Given the description of an element on the screen output the (x, y) to click on. 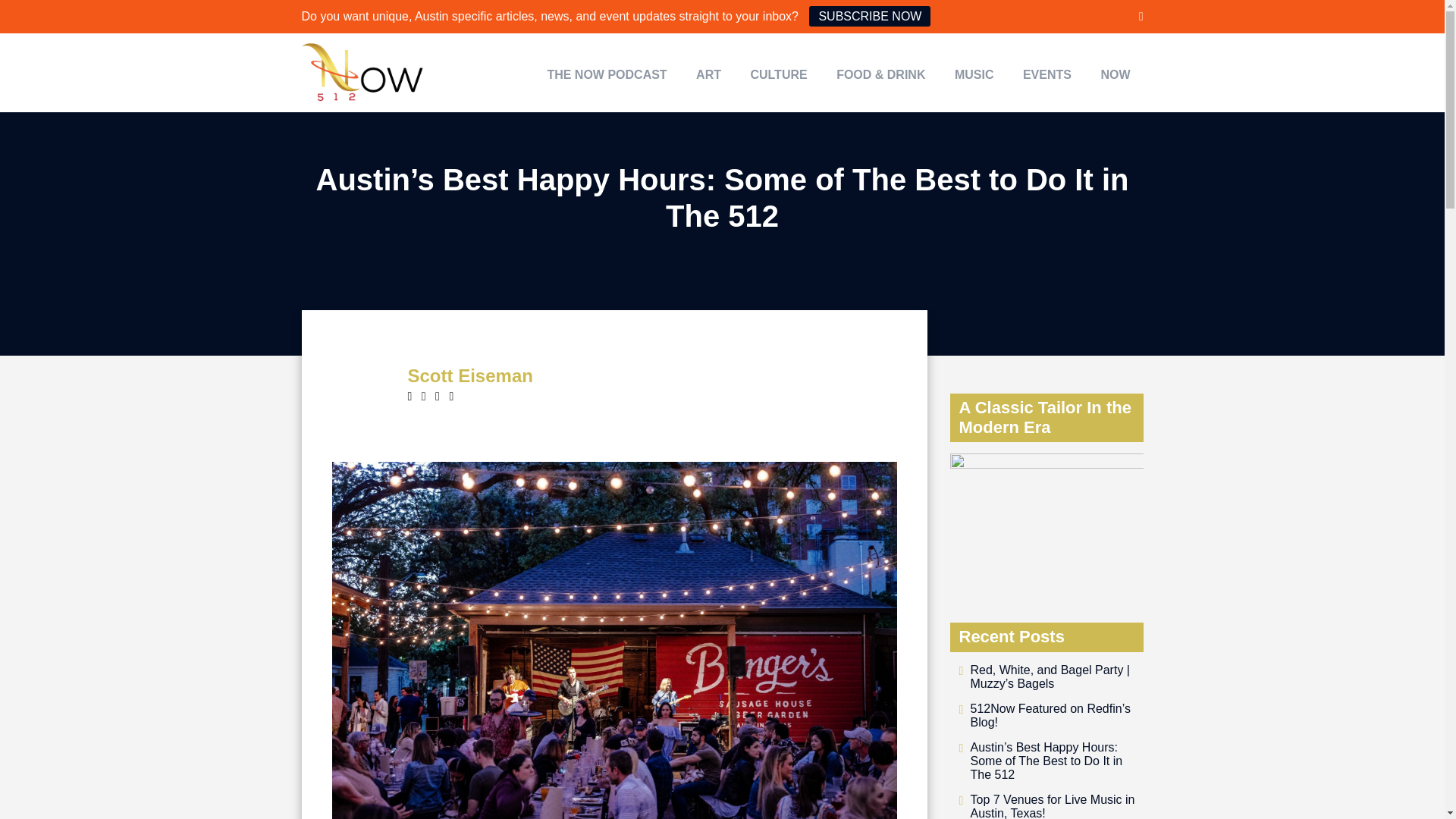
ART (709, 80)
CULTURE (777, 80)
EVENTS (1047, 80)
Scott Eiseman (469, 375)
MUSIC (973, 80)
SUBSCRIBE NOW (869, 15)
NOW (1115, 80)
THE NOW PODCAST (606, 80)
